Given the description of an element on the screen output the (x, y) to click on. 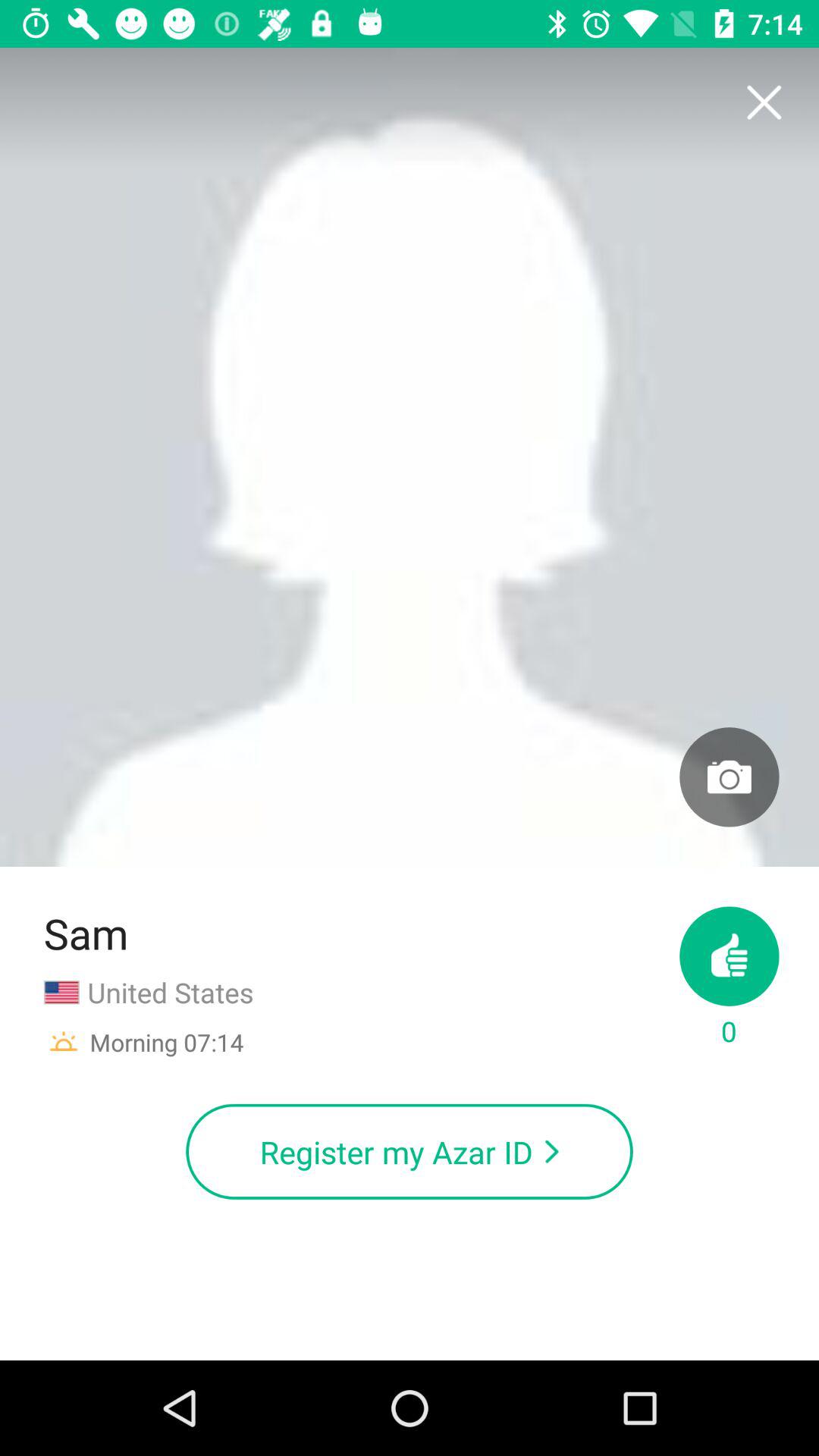
turn off 0 (729, 977)
